Given the description of an element on the screen output the (x, y) to click on. 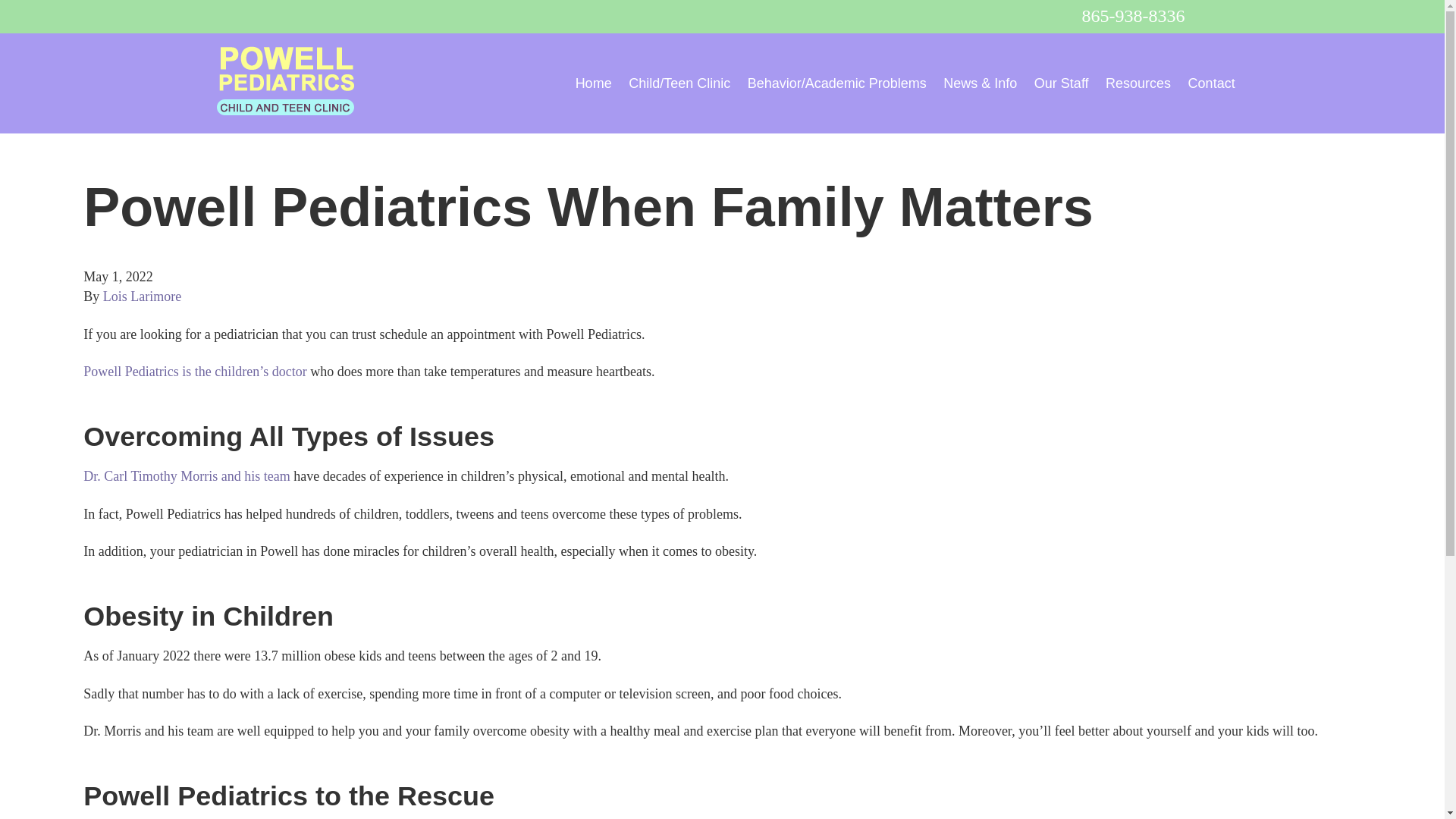
Resources (1137, 83)
Home (593, 83)
Dr. Carl Timothy Morris and his team (185, 476)
Our Staff (1061, 83)
Lois Larimore (141, 296)
Contact (1211, 83)
865-938-8336 (1133, 15)
